Given the description of an element on the screen output the (x, y) to click on. 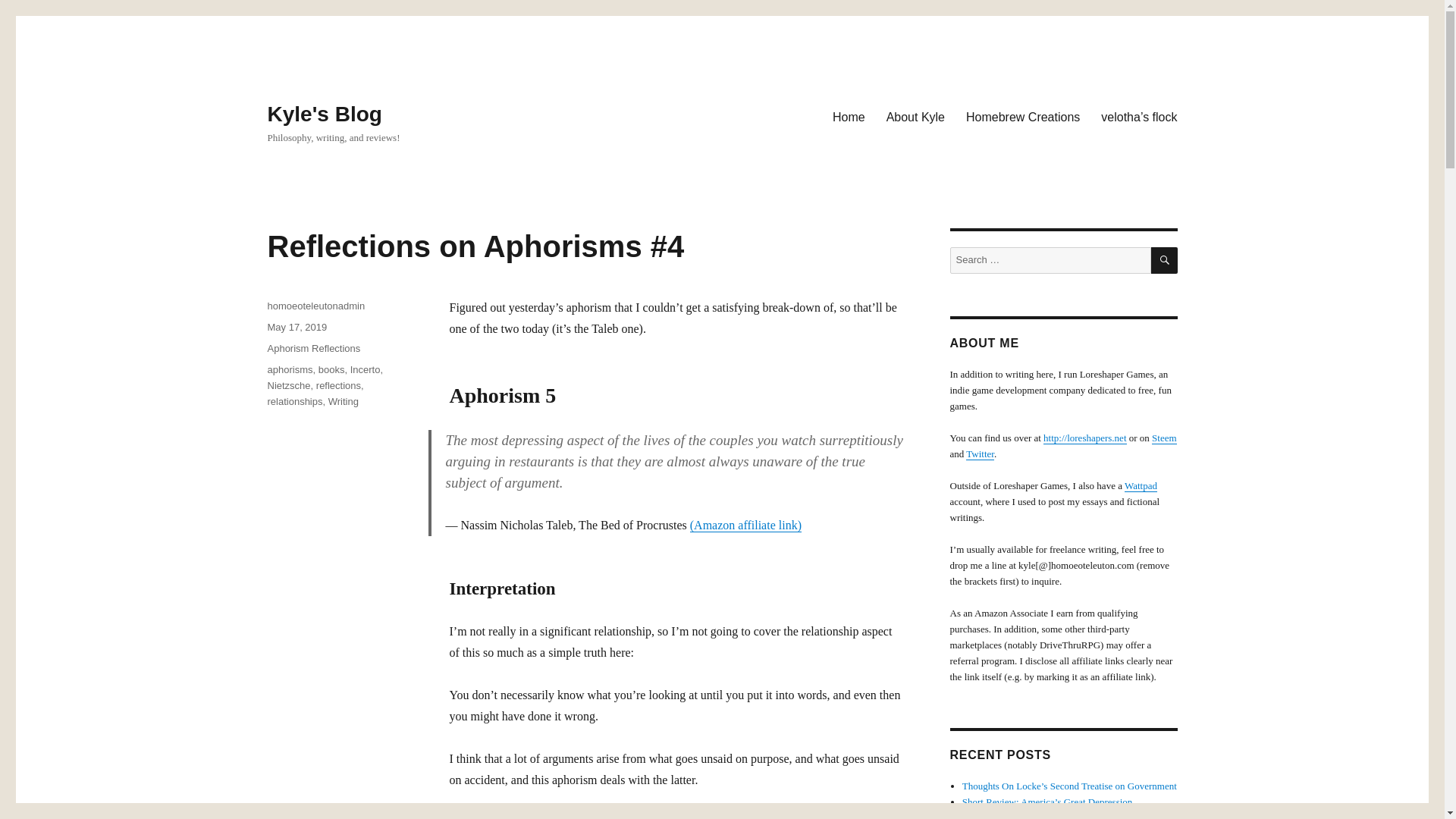
relationships (293, 401)
Aphorism Reflections (312, 348)
Kyle's Blog (323, 114)
Writing (343, 401)
Incerto (365, 369)
aphorisms (289, 369)
Nietzsche (288, 385)
Home (849, 116)
reflections (338, 385)
Homebrew Creations (1022, 116)
